Given the description of an element on the screen output the (x, y) to click on. 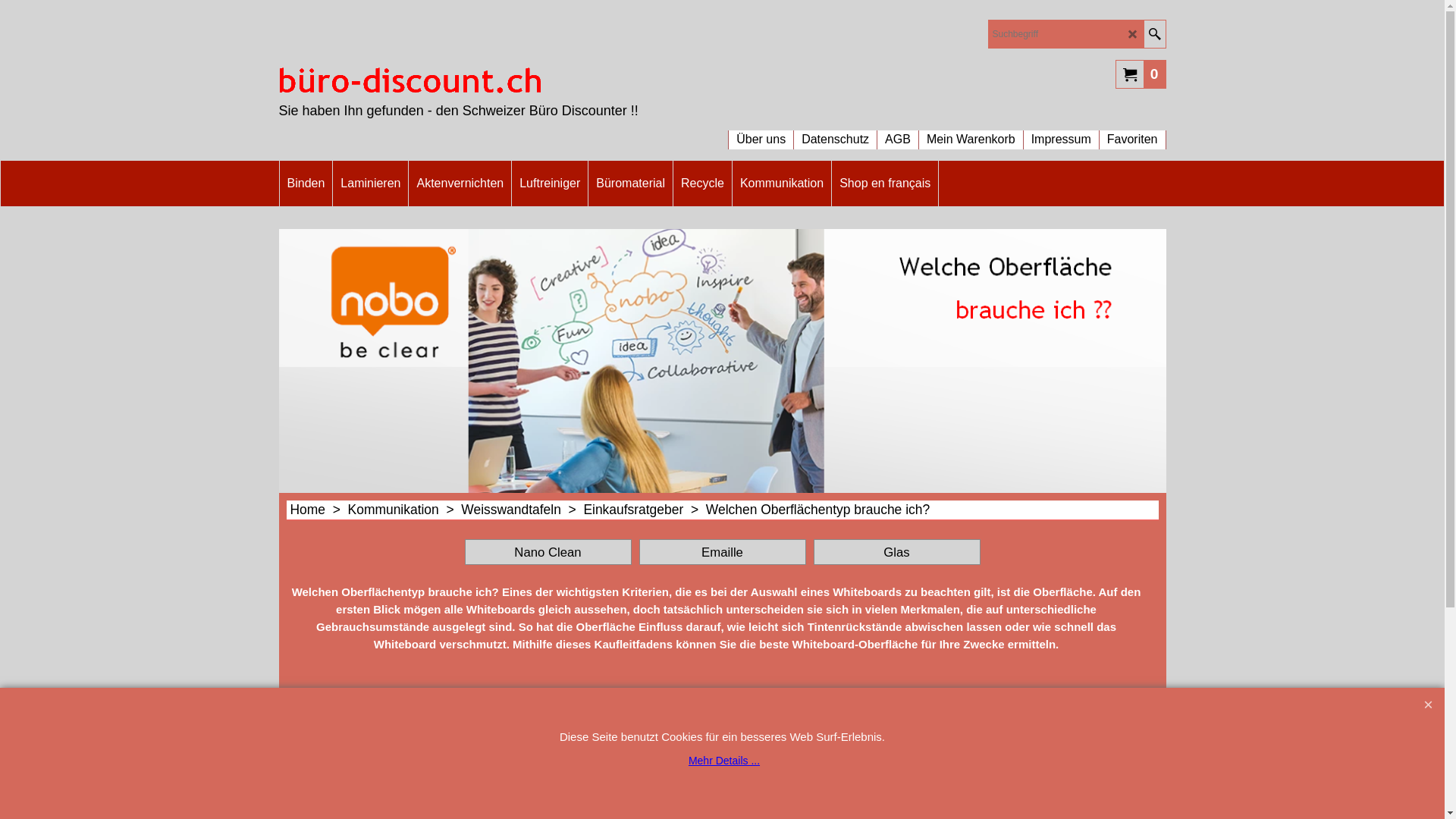
Weisswandtafeln  >  Element type: text (522, 509)
Aktenvernichten Element type: text (459, 183)
Recycle Element type: text (702, 183)
Datenschutz Element type: text (834, 131)
Laminieren Element type: text (369, 183)
AGB Element type: text (897, 131)
Binden Element type: text (305, 183)
Mein Warenkorb Element type: text (970, 131)
Home  >  Element type: text (318, 509)
Kommunikation Element type: text (781, 183)
Glas Element type: text (895, 551)
0 Element type: text (1140, 73)
Emaille Element type: text (721, 551)
Favoriten Element type: text (1132, 131)
Impressum Element type: text (1060, 131)
Mehr Details ... Element type: text (723, 760)
LD_CANCEL Element type: hover (1132, 34)
Nano Clean Element type: text (547, 551)
Suche Element type: hover (1154, 33)
Kommunikation  >  Element type: text (404, 509)
Einkaufsratgeber  >  Element type: text (644, 509)
Luftreiniger Element type: text (549, 183)
